Given the description of an element on the screen output the (x, y) to click on. 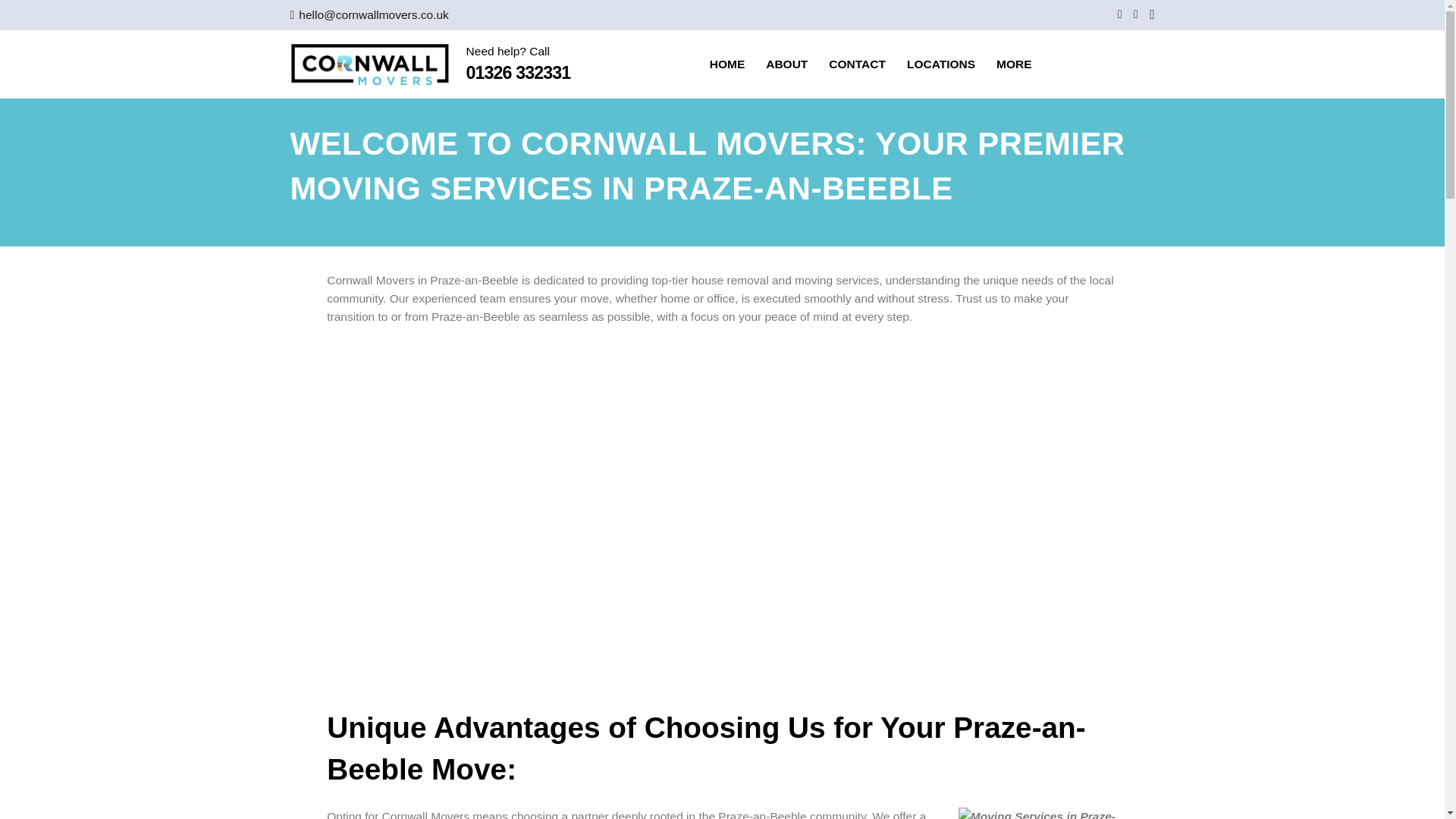
HOME (726, 64)
LOCATIONS (940, 64)
CONTACT (857, 64)
ABOUT (786, 64)
MORE (1013, 64)
01326 332331 (517, 72)
